Given the description of an element on the screen output the (x, y) to click on. 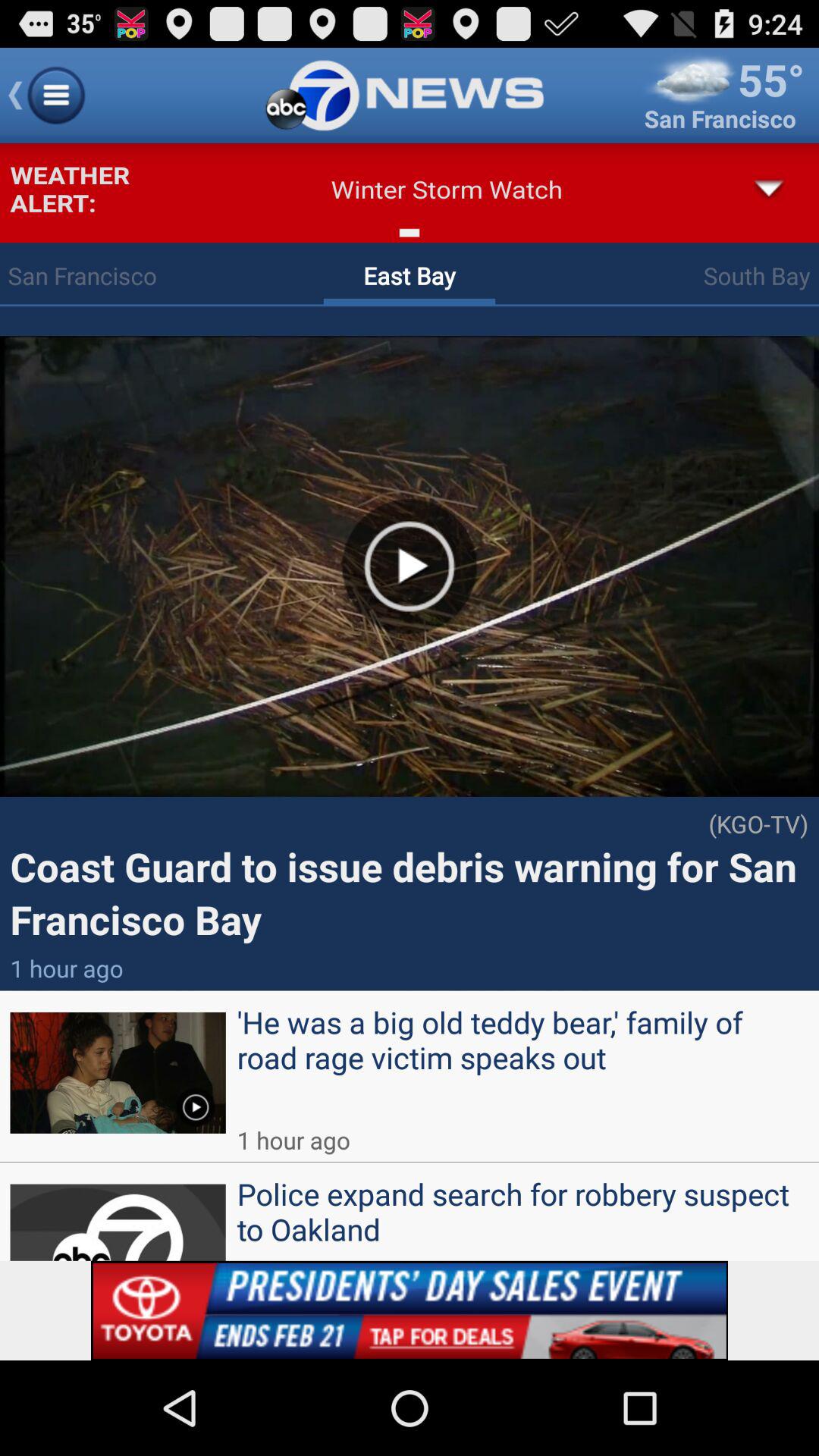
click on the option which says presidents day sales event (400, 1300)
